Given the description of an element on the screen output the (x, y) to click on. 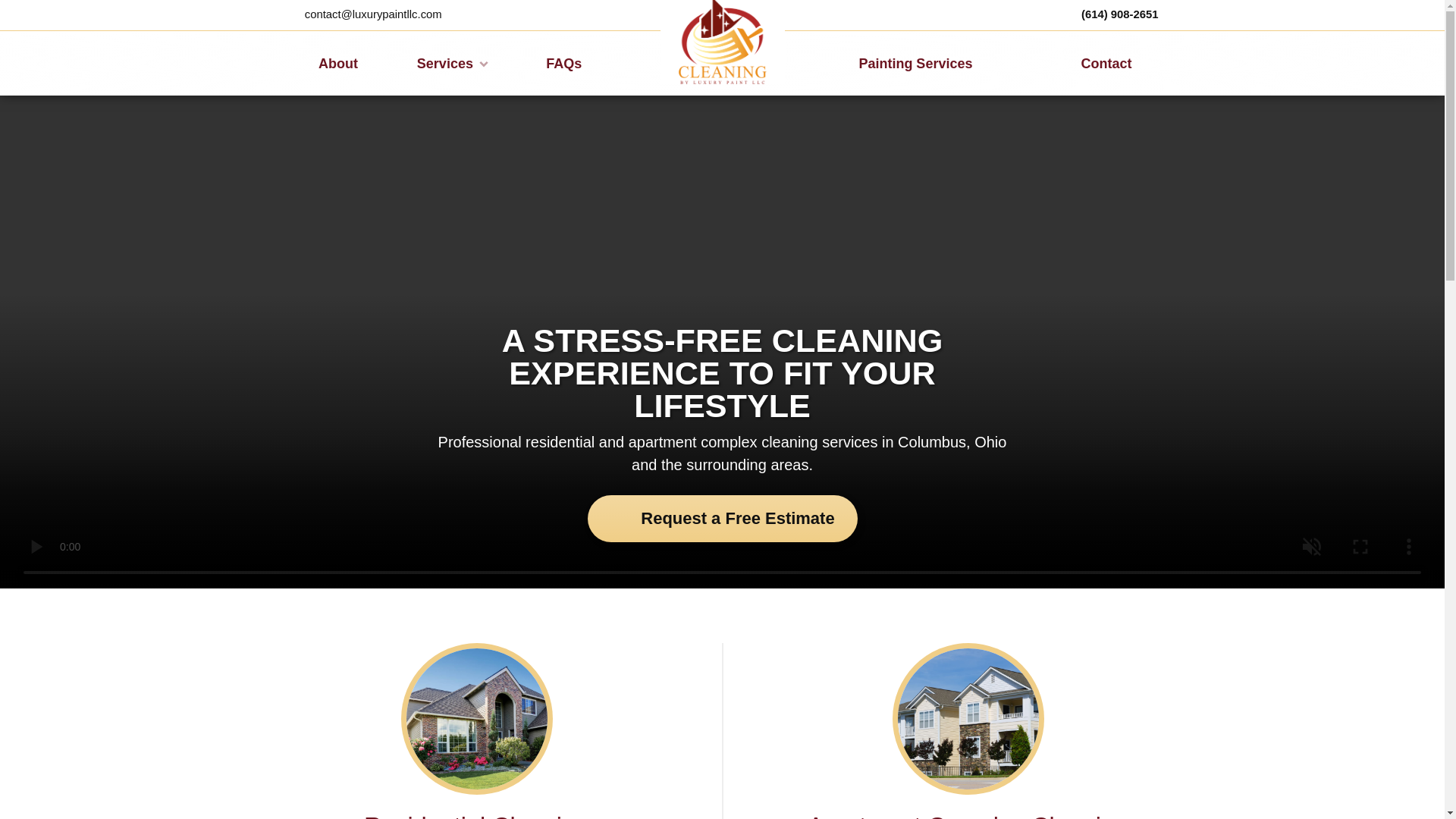
FAQs (563, 63)
About (337, 63)
Contact (1106, 63)
Request a Free Estimate (722, 518)
Services (450, 63)
Painting Services (916, 63)
